Given the description of an element on the screen output the (x, y) to click on. 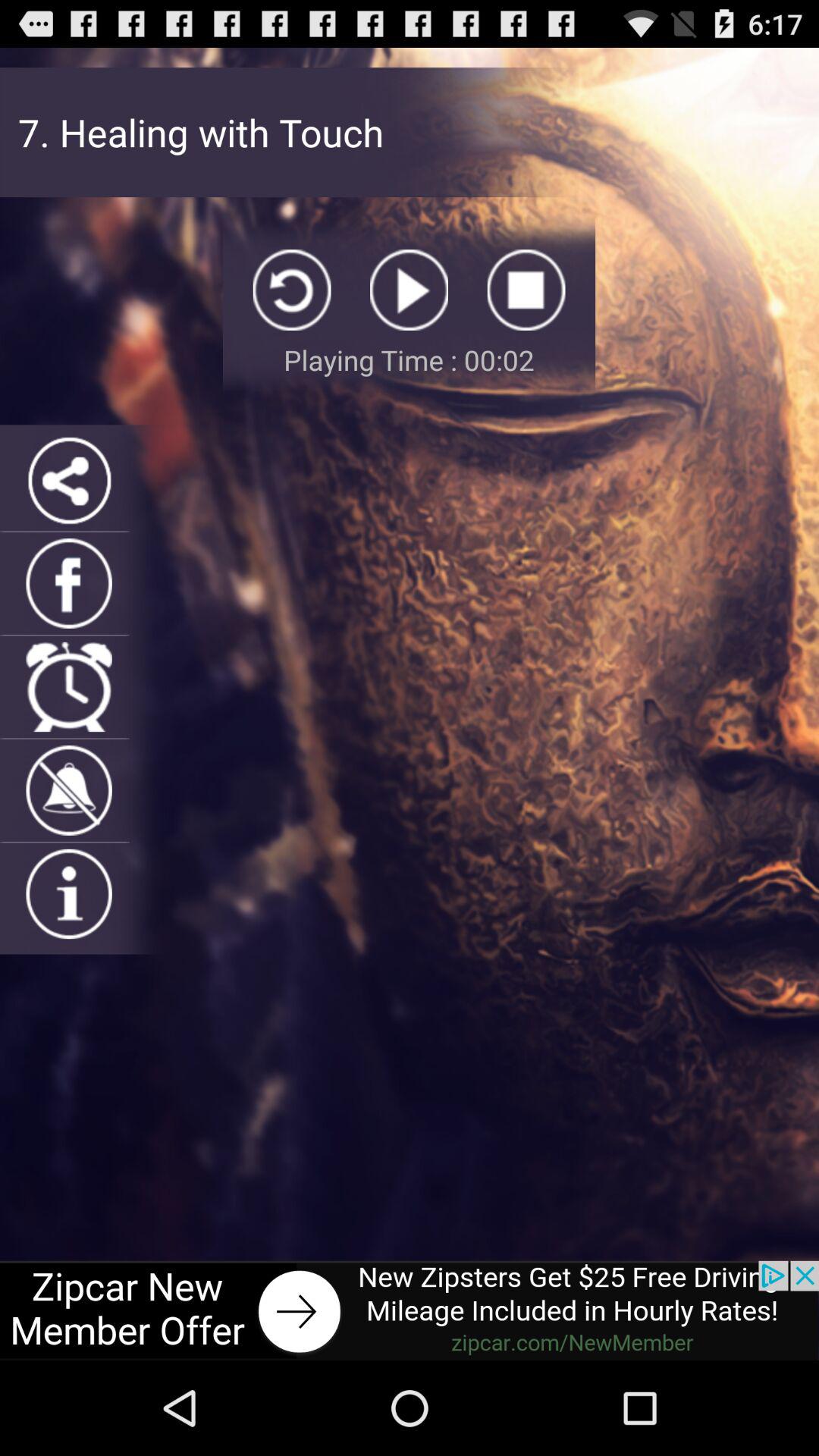
open timer (69, 686)
